Given the description of an element on the screen output the (x, y) to click on. 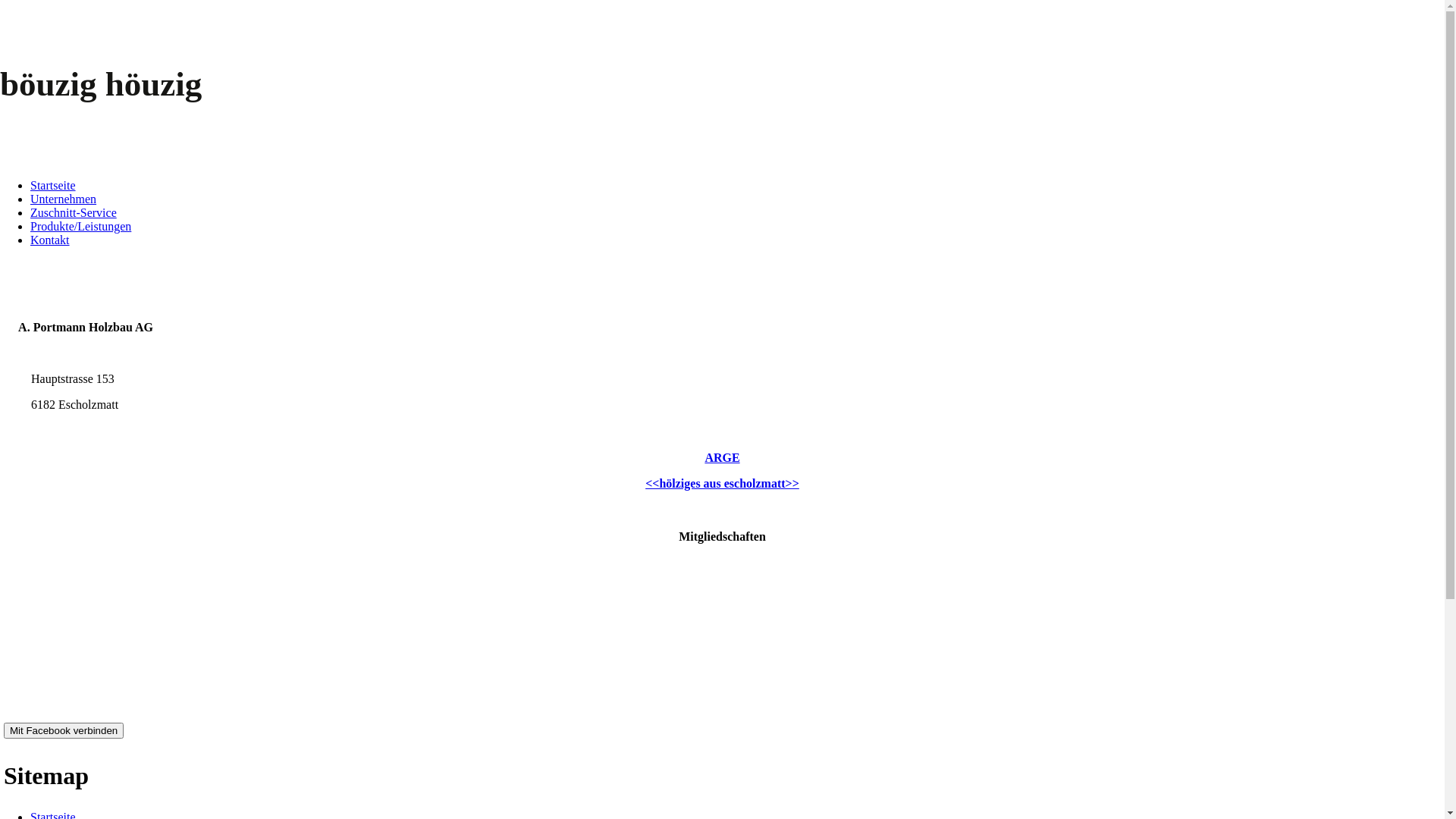
ARGE Element type: text (721, 457)
Produkte/Leistungen Element type: text (80, 225)
Mit Facebook verbinden Element type: text (63, 730)
Unternehmen Element type: text (63, 198)
Kontakt Element type: text (49, 239)
Startseite Element type: text (52, 184)
Zuschnitt-Service Element type: text (73, 212)
